Given the description of an element on the screen output the (x, y) to click on. 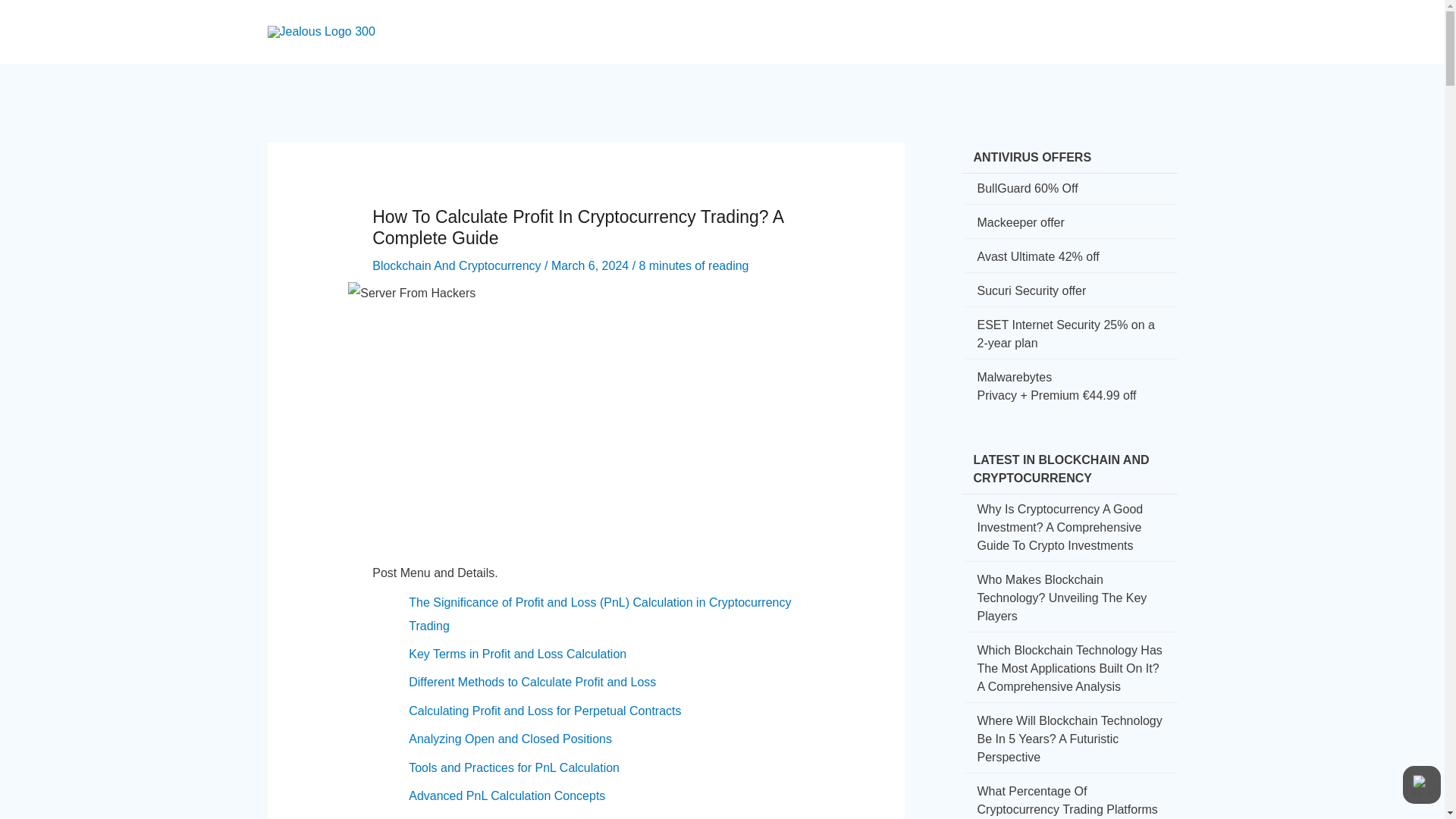
Misc (1122, 18)
Social (863, 18)
Blockchain And Cryptocurrency (456, 265)
Advanced PnL Calculation Concepts (507, 795)
Analyzing Open and Closed Positions (510, 738)
Gaming (999, 18)
Key Terms in Profit and Loss Calculation (517, 653)
Tools and Practices for PnL Calculation (514, 767)
Calculating Profit and Loss for Perpetual Contracts (545, 710)
How-To (802, 18)
